Given the description of an element on the screen output the (x, y) to click on. 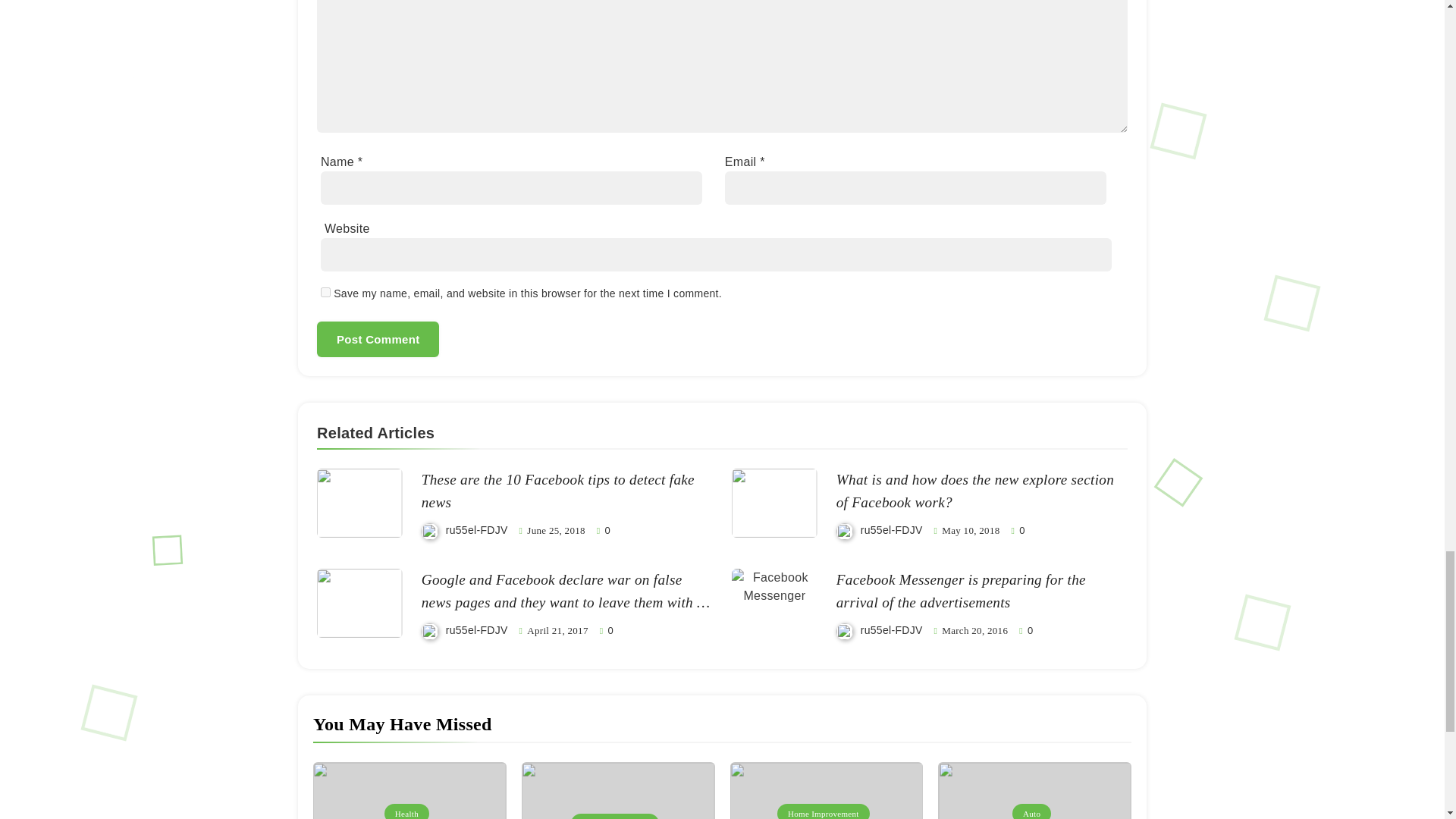
yes (325, 292)
Post Comment (378, 339)
